Given the description of an element on the screen output the (x, y) to click on. 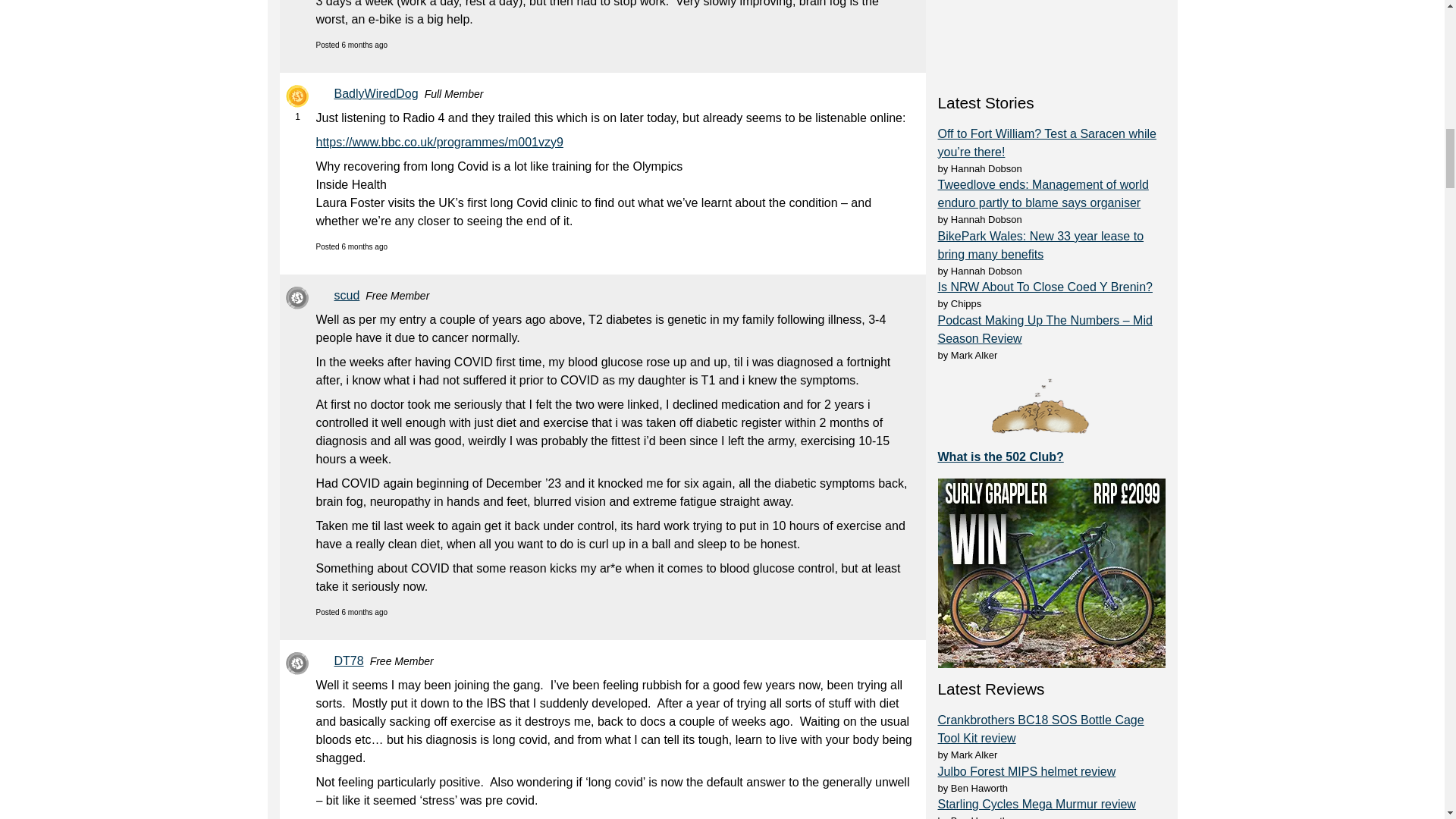
View BadlyWiredDog's profile (378, 94)
View DT78's profile (351, 660)
View scud's profile (349, 295)
